Given the description of an element on the screen output the (x, y) to click on. 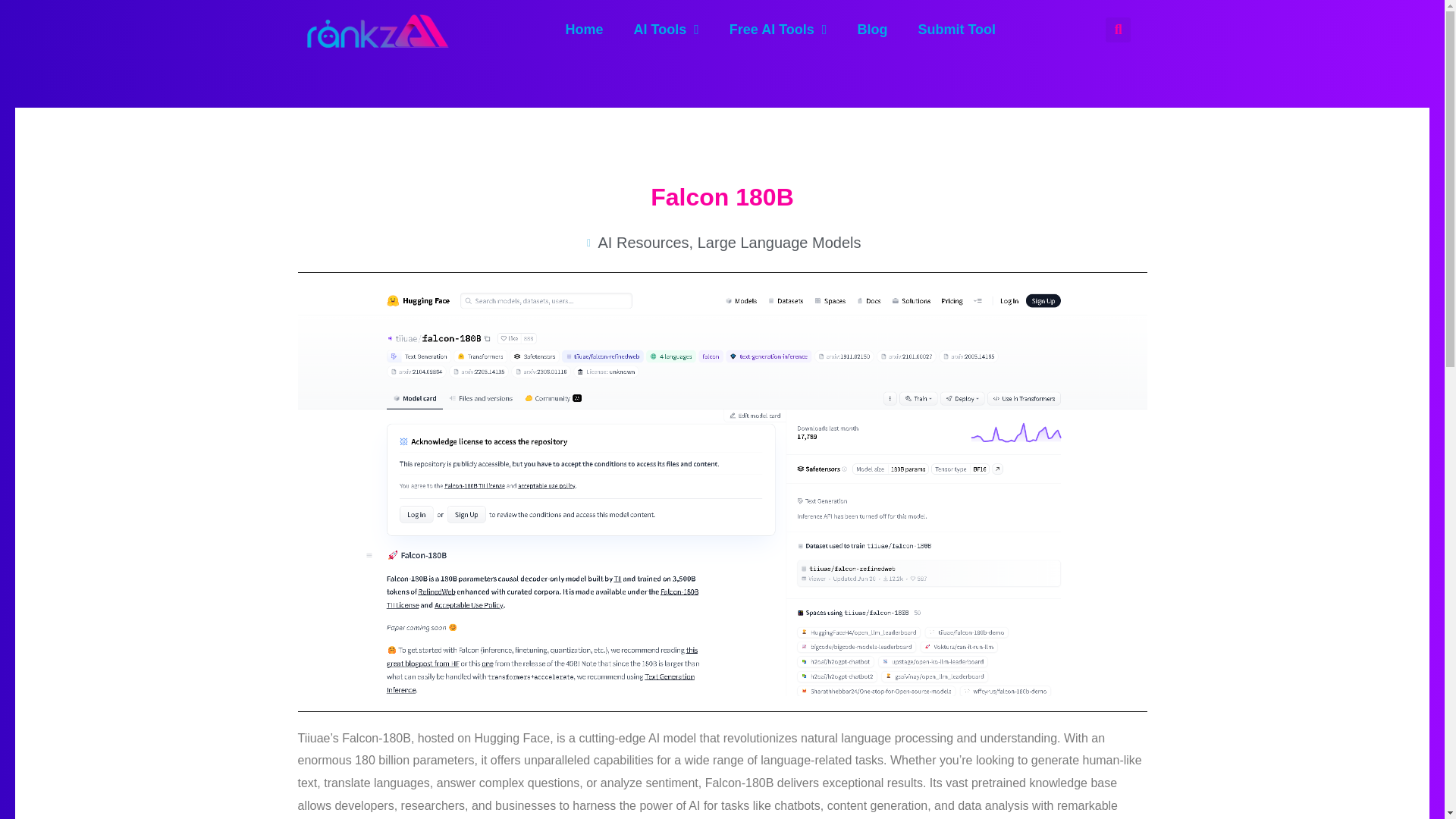
Home (584, 29)
AI Tools (666, 29)
